Given the description of an element on the screen output the (x, y) to click on. 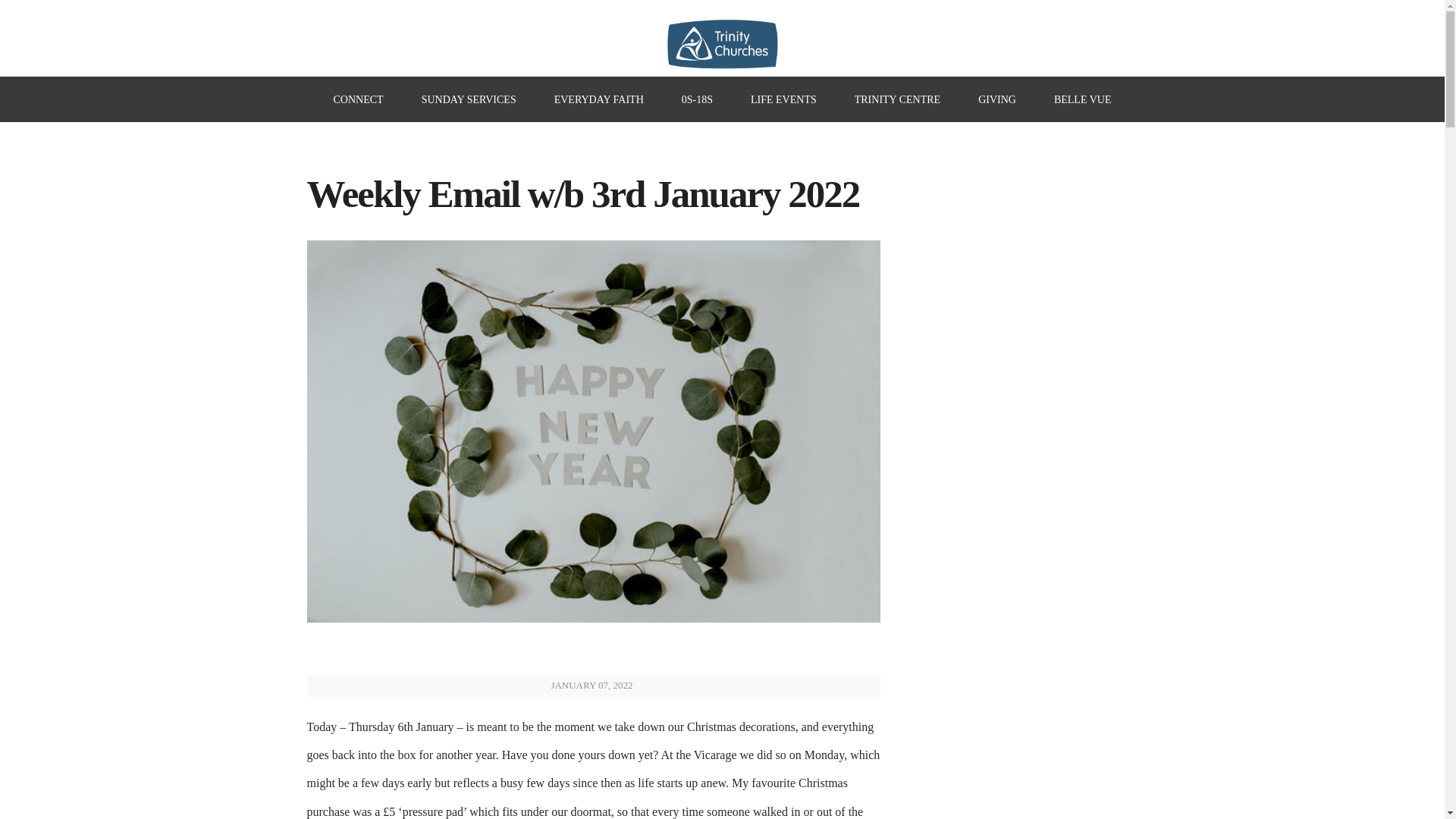
0S-18S (697, 99)
SUNDAY SERVICES (469, 99)
CONNECT (357, 99)
EVERYDAY FAITH (598, 99)
TRINITY CENTRE (897, 99)
LIFE EVENTS (783, 99)
